Given the description of an element on the screen output the (x, y) to click on. 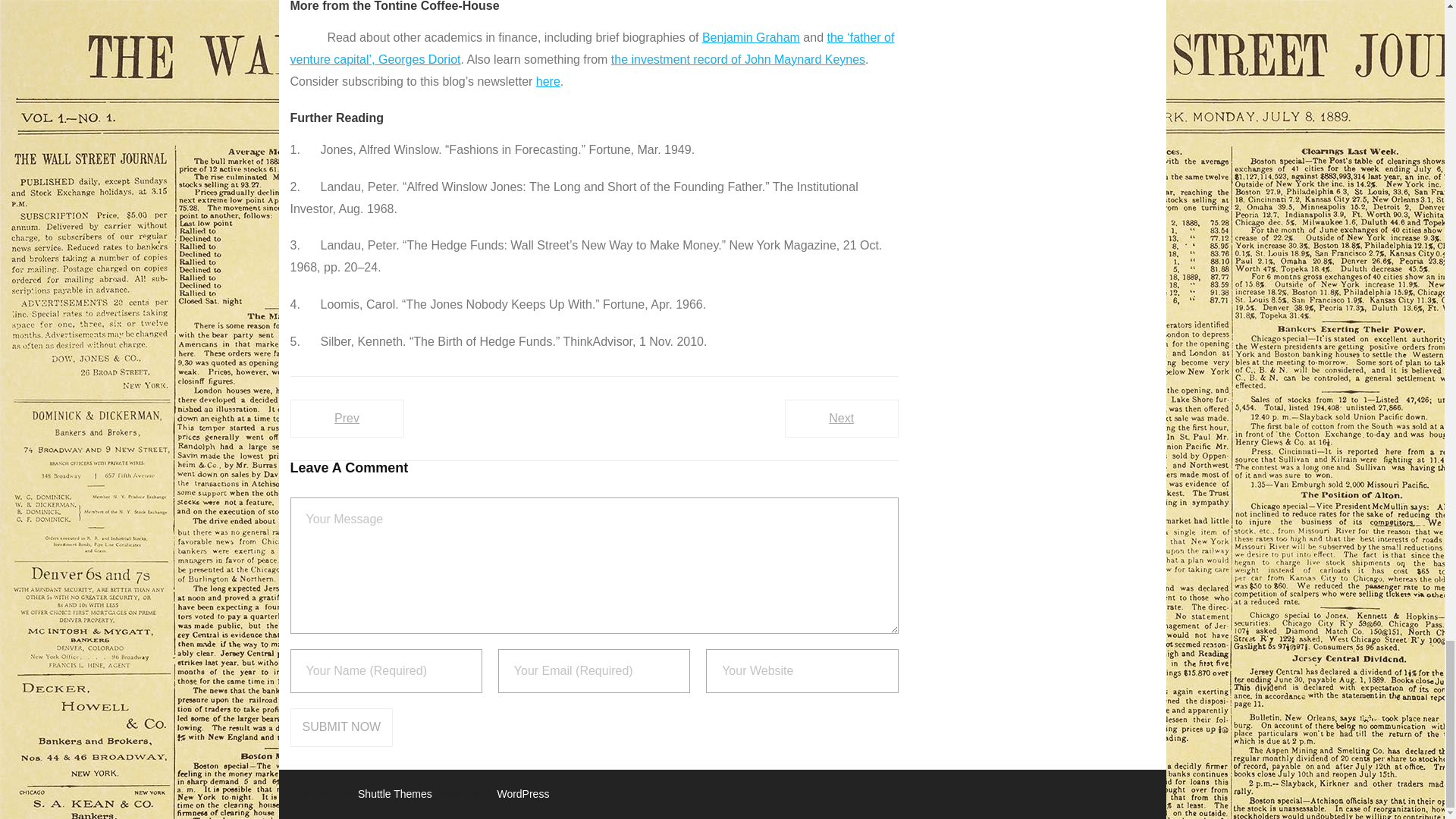
Submit Now (341, 727)
